Given the description of an element on the screen output the (x, y) to click on. 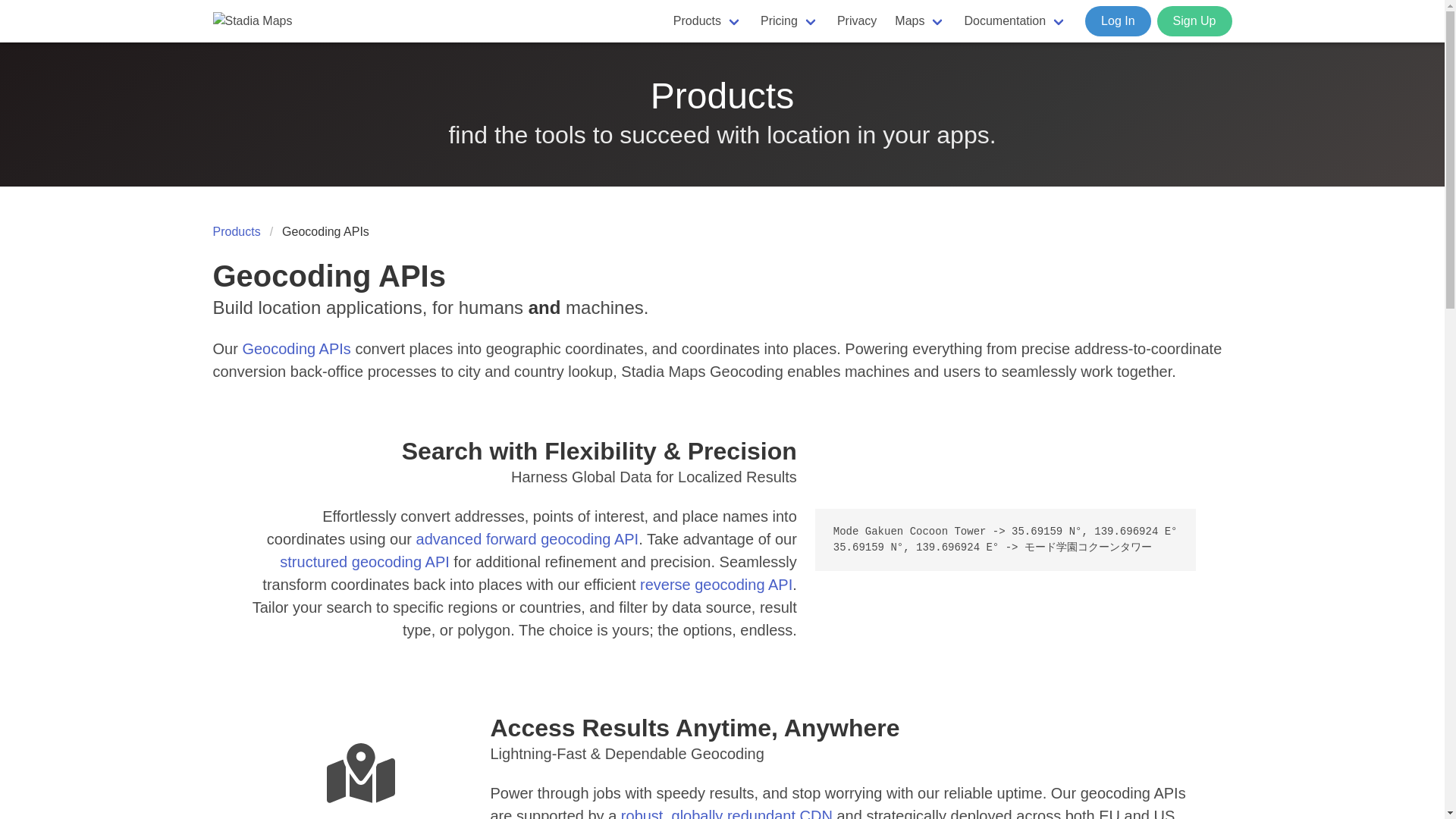
Geocoding APIs (298, 348)
Privacy (856, 21)
structured geocoding API (365, 561)
Log In (1117, 20)
Geocoding APIs (325, 231)
advanced forward geocoding API (527, 538)
reverse geocoding API (716, 584)
Pricing (789, 21)
Products (707, 21)
robust, globally redundant CDN (729, 813)
